Given the description of an element on the screen output the (x, y) to click on. 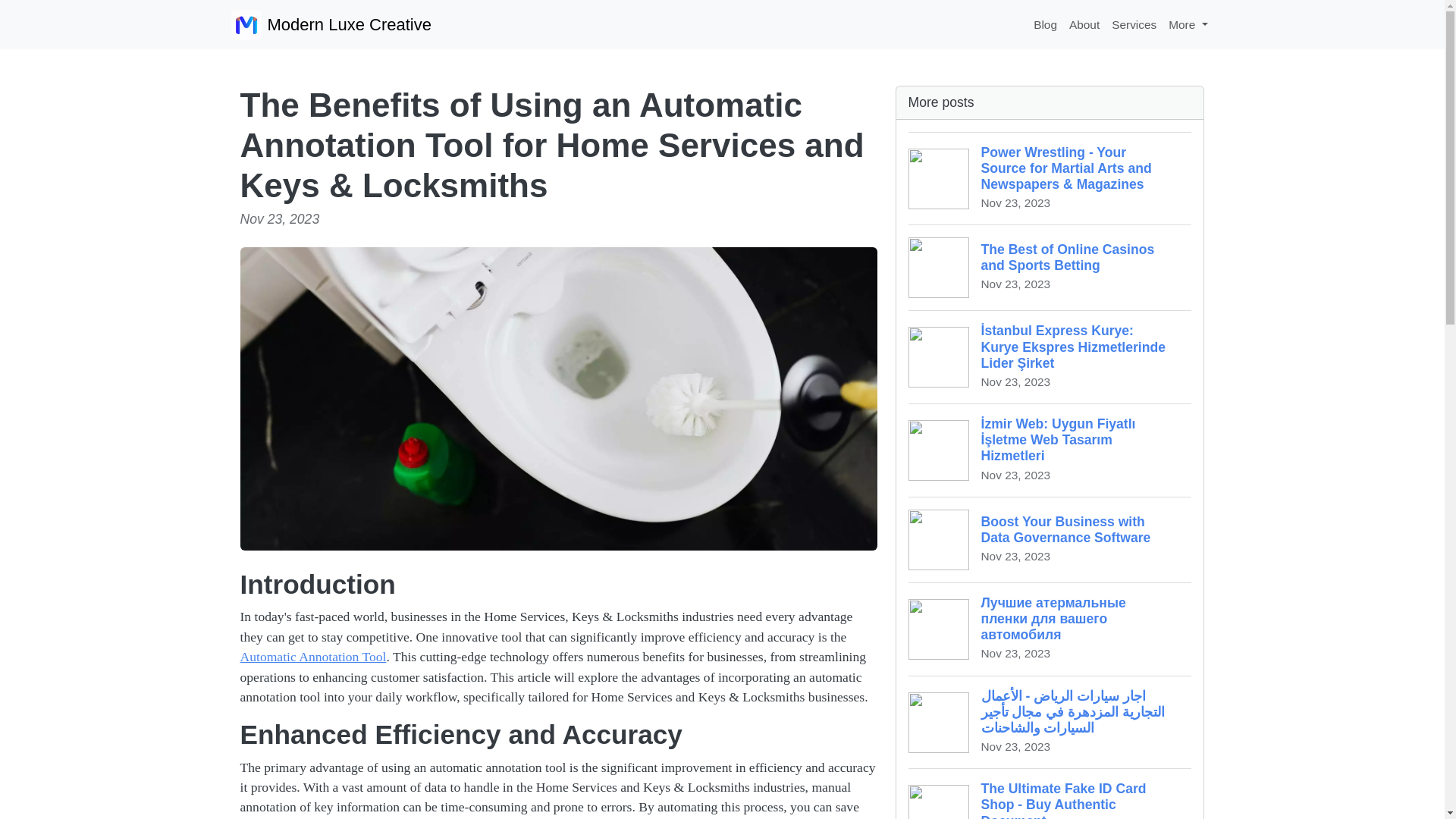
Modern Luxe Creative (1050, 267)
Blog (330, 24)
About (1044, 24)
Services (1083, 24)
Automatic Annotation Tool (1133, 24)
More (312, 656)
